Given the description of an element on the screen output the (x, y) to click on. 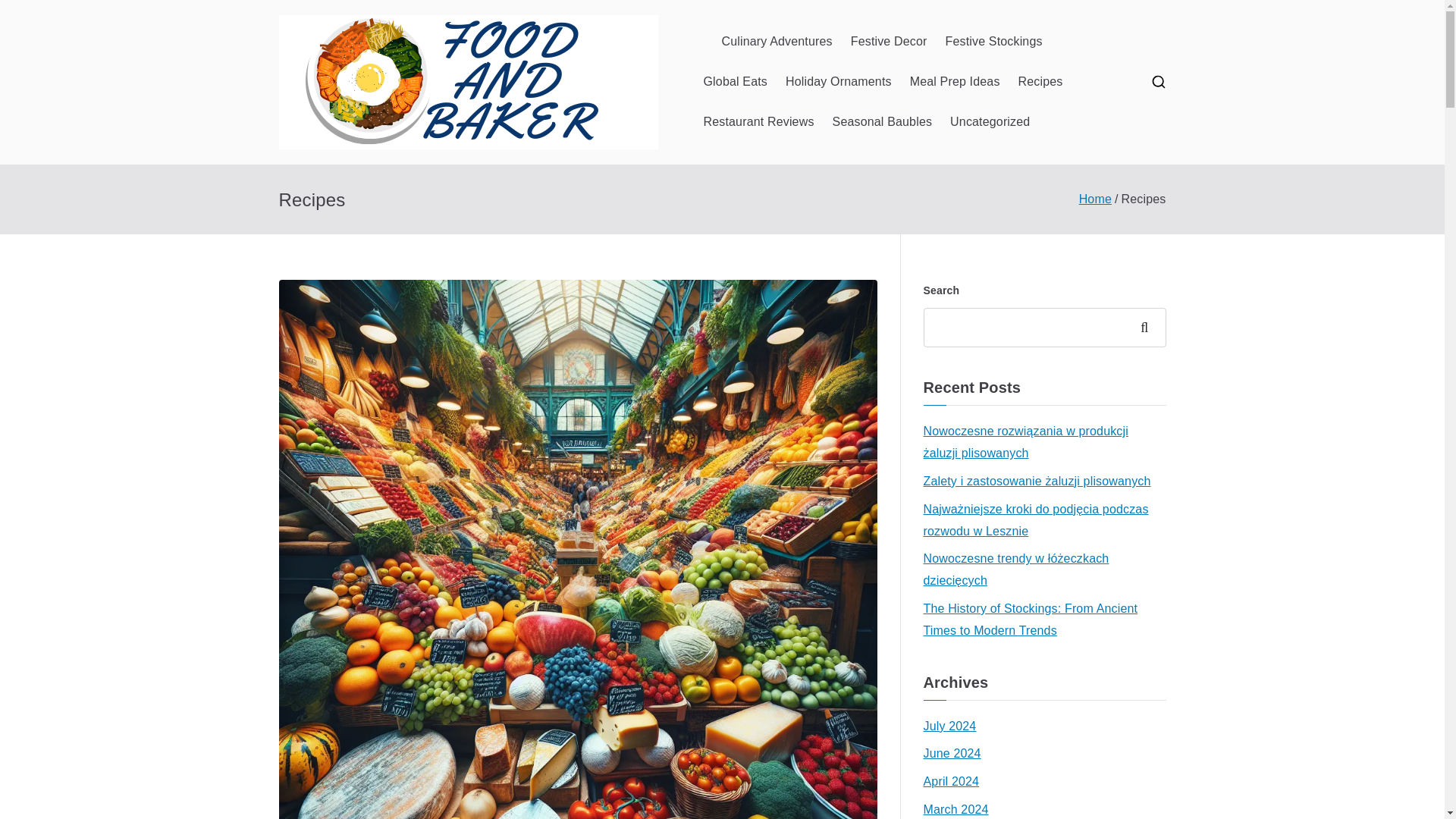
Holiday Ornaments (838, 82)
Uncategorized (989, 122)
Meal Prep Ideas (955, 82)
Culinary Adventures (777, 42)
Restaurant Reviews (758, 122)
Festive Decor (888, 42)
Recipes (1039, 82)
Festive Stockings (993, 42)
Seasonal Baubles (882, 122)
Search (26, 12)
Global Eats (735, 82)
foodandbaker (773, 101)
